Given the description of an element on the screen output the (x, y) to click on. 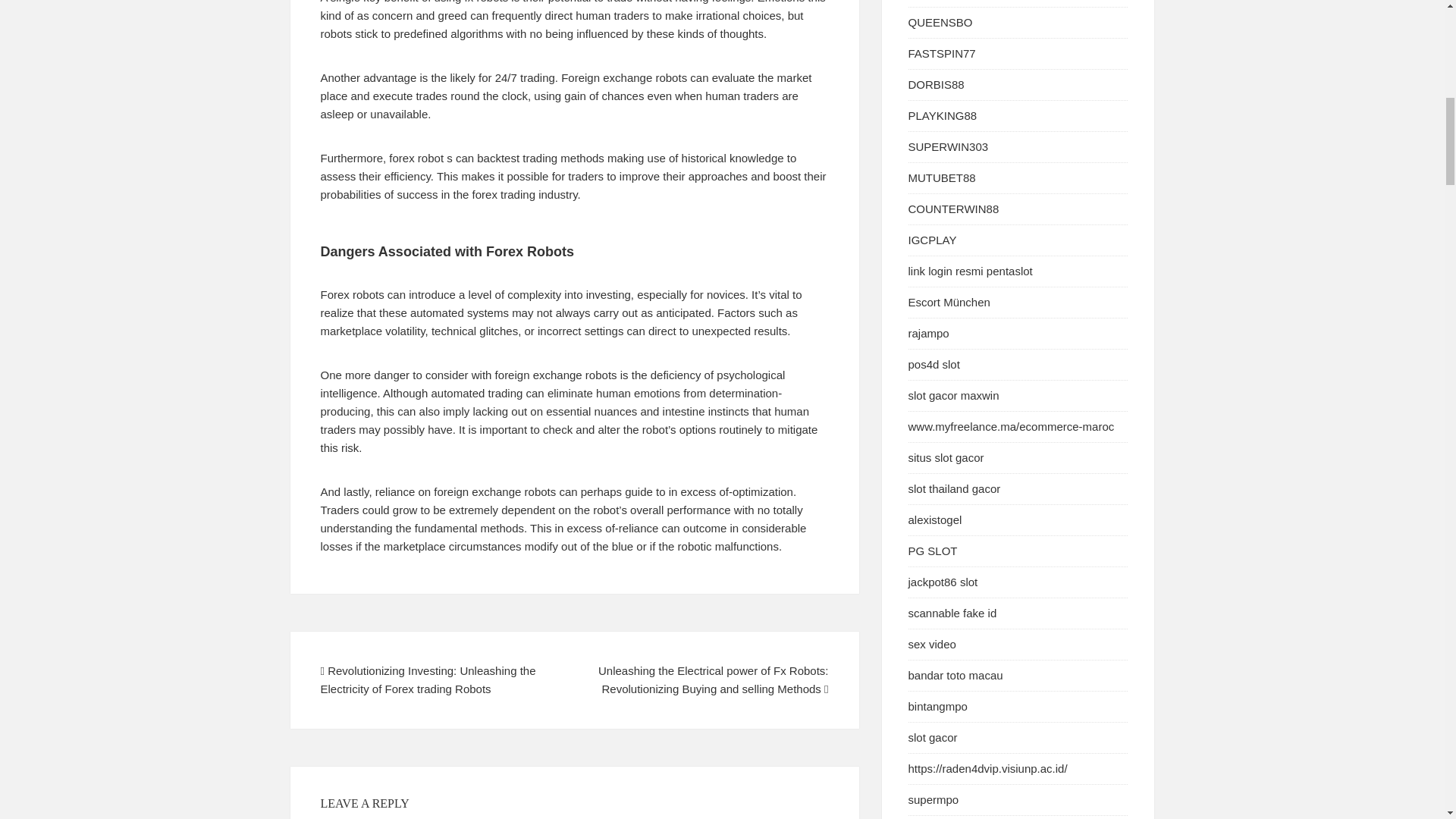
COUNTERWIN88 (953, 208)
forex robot (416, 157)
PLAYKING88 (942, 115)
MUTUBET88 (941, 177)
QUEENSBO (940, 21)
SUPERWIN303 (948, 146)
FASTSPIN77 (941, 52)
DORBIS88 (935, 83)
